Given the description of an element on the screen output the (x, y) to click on. 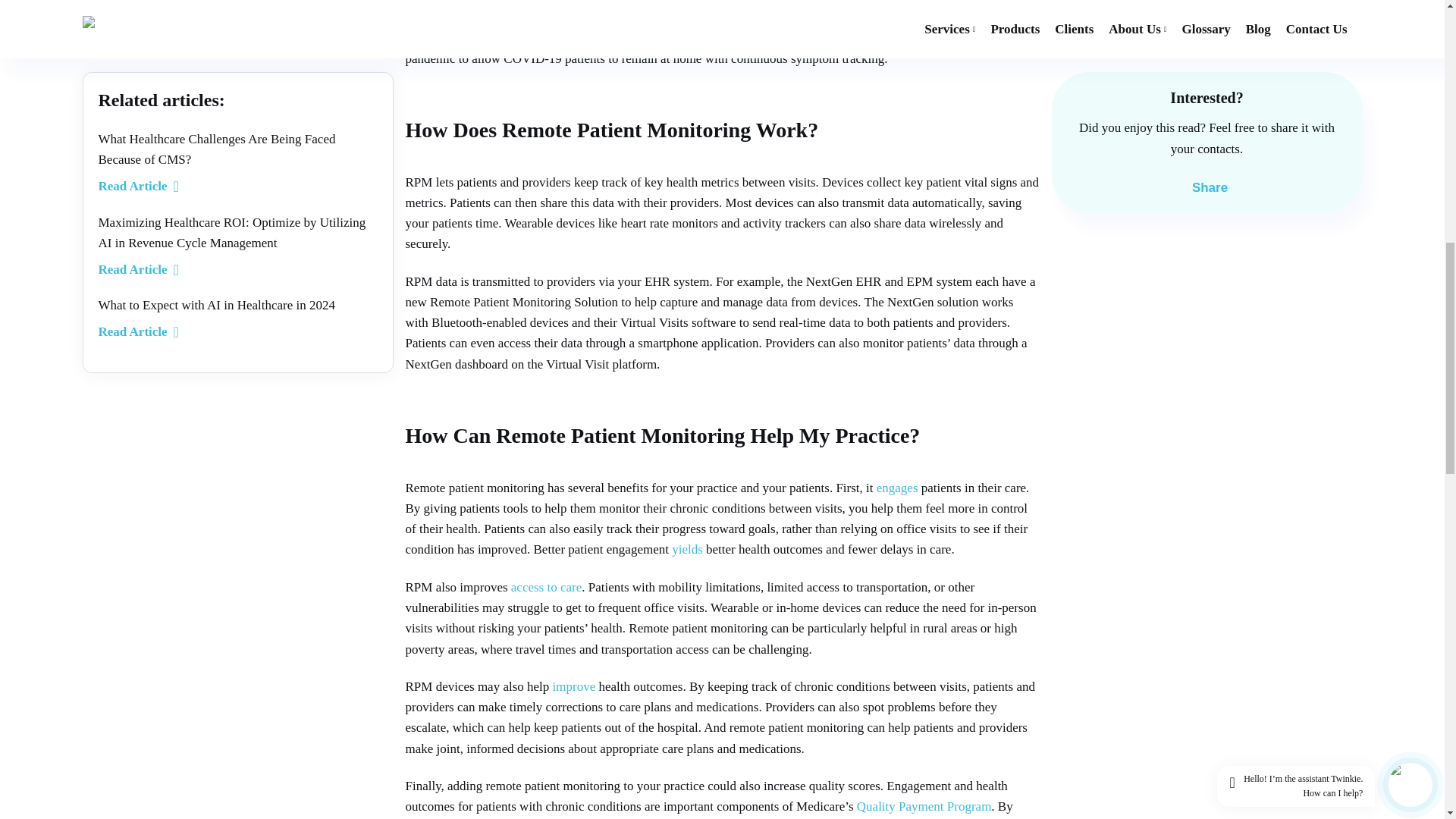
implemented (862, 38)
